Given the description of an element on the screen output the (x, y) to click on. 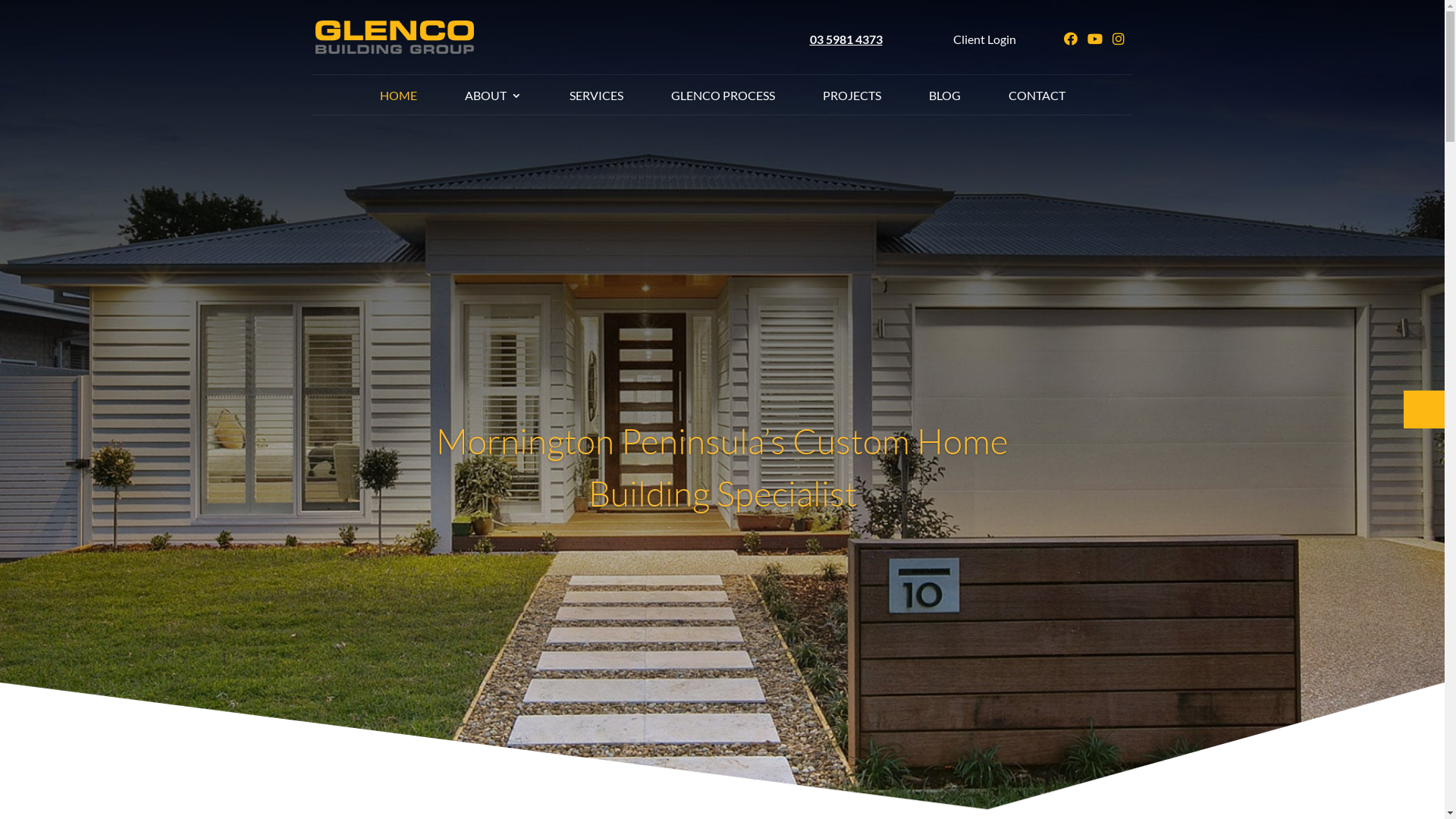
BLOG Element type: text (944, 102)
Youtube Element type: text (1098, 38)
CONTACT Element type: text (1036, 102)
03 5981 4373 Element type: text (845, 38)
Client Login Element type: text (983, 38)
ABOUT Element type: text (492, 102)
PROJECTS Element type: text (851, 102)
Facebook Element type: text (1073, 38)
Instagram Element type: text (1121, 38)
GLENCO PROCESS Element type: text (722, 102)
SERVICES Element type: text (595, 102)
HOME Element type: text (397, 102)
